Given the description of an element on the screen output the (x, y) to click on. 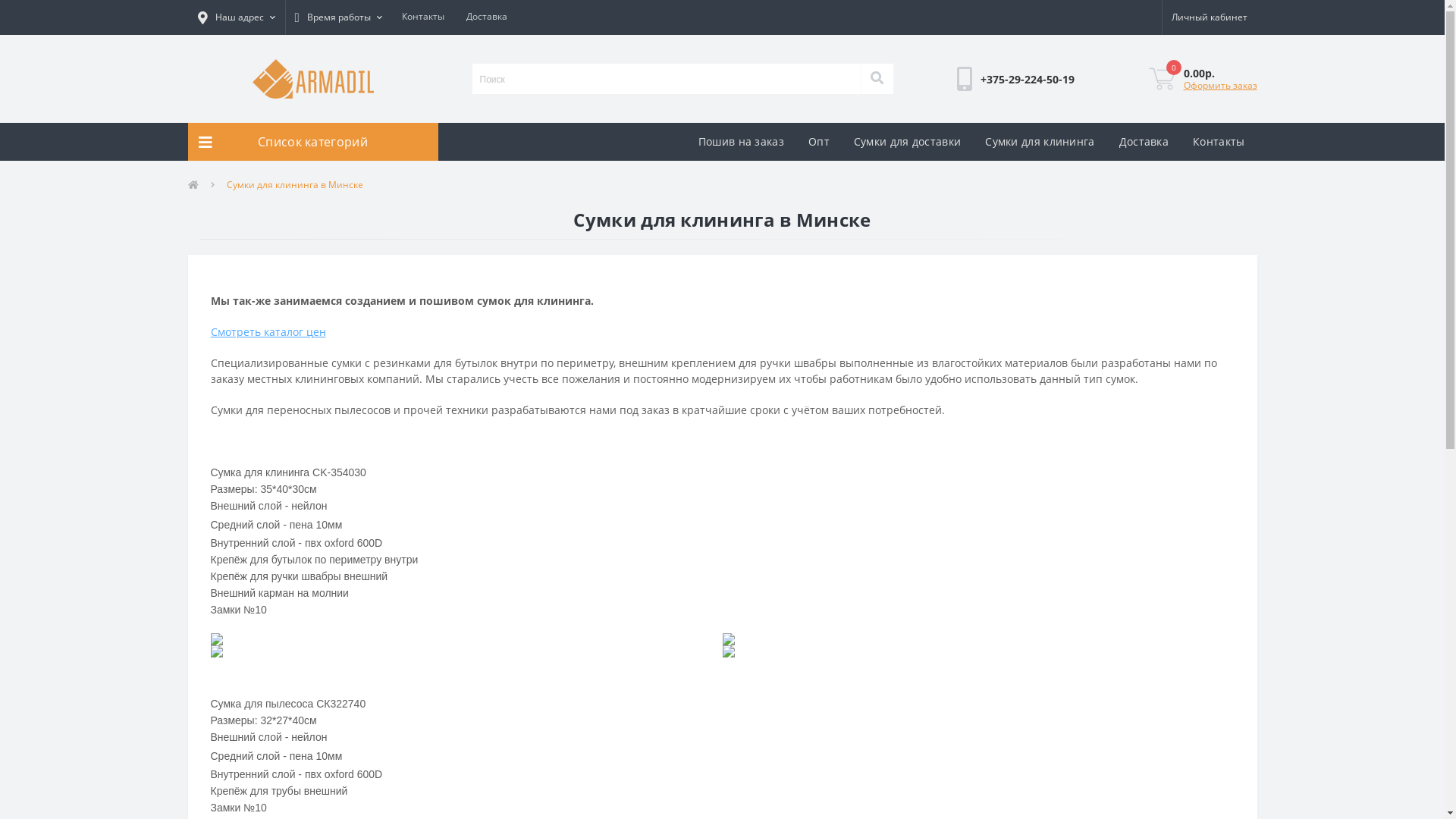
+375-29-224-50-19 Element type: text (1027, 78)
Armadil.by Element type: hover (312, 78)
0 Element type: text (1161, 78)
